Given the description of an element on the screen output the (x, y) to click on. 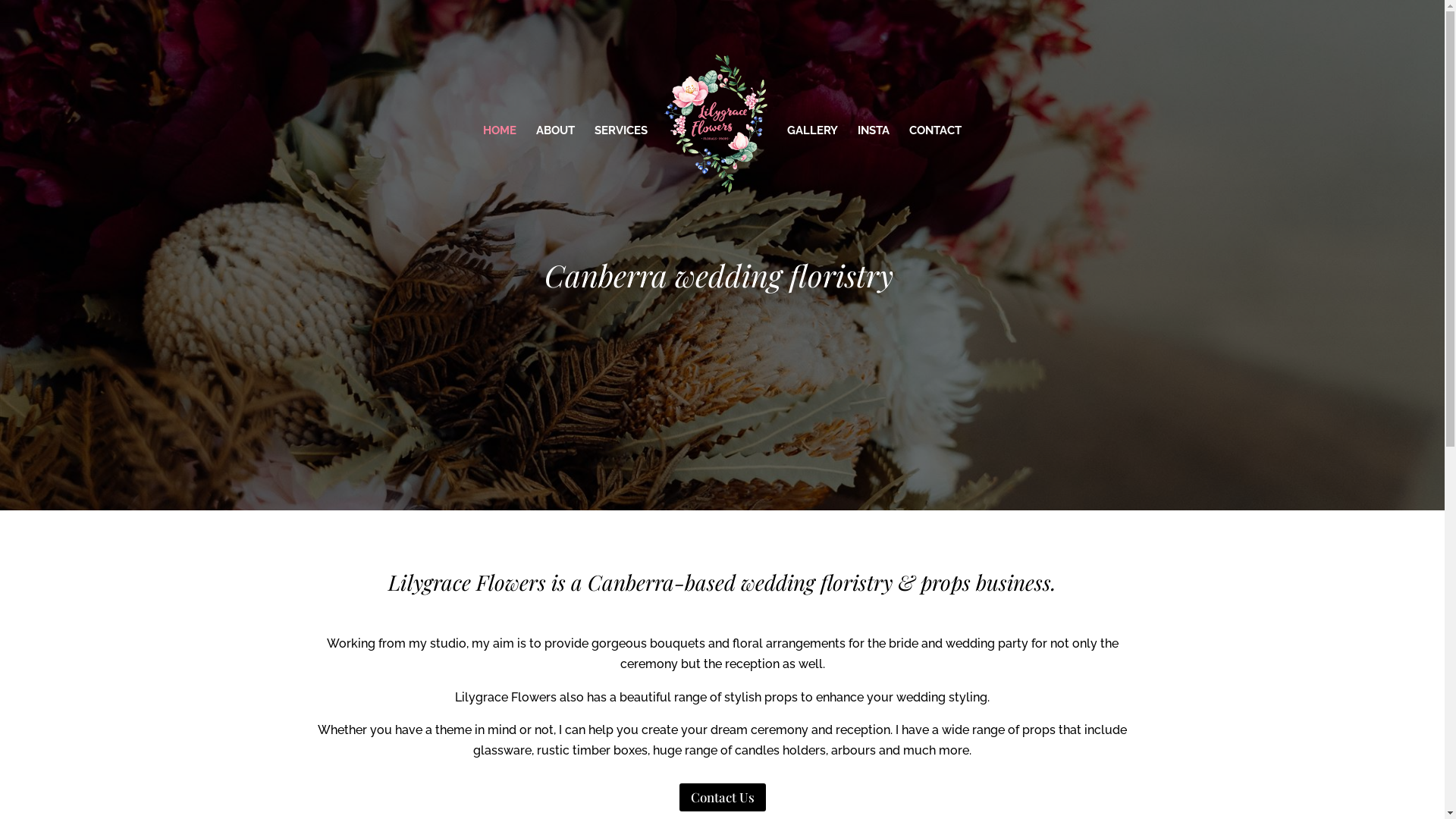
CONTACT Element type: text (935, 170)
Contact Us Element type: text (722, 797)
INSTA Element type: text (873, 170)
SERVICES Element type: text (620, 170)
ABOUT Element type: text (555, 170)
GALLERY Element type: text (812, 170)
HOME Element type: text (499, 170)
